Given the description of an element on the screen output the (x, y) to click on. 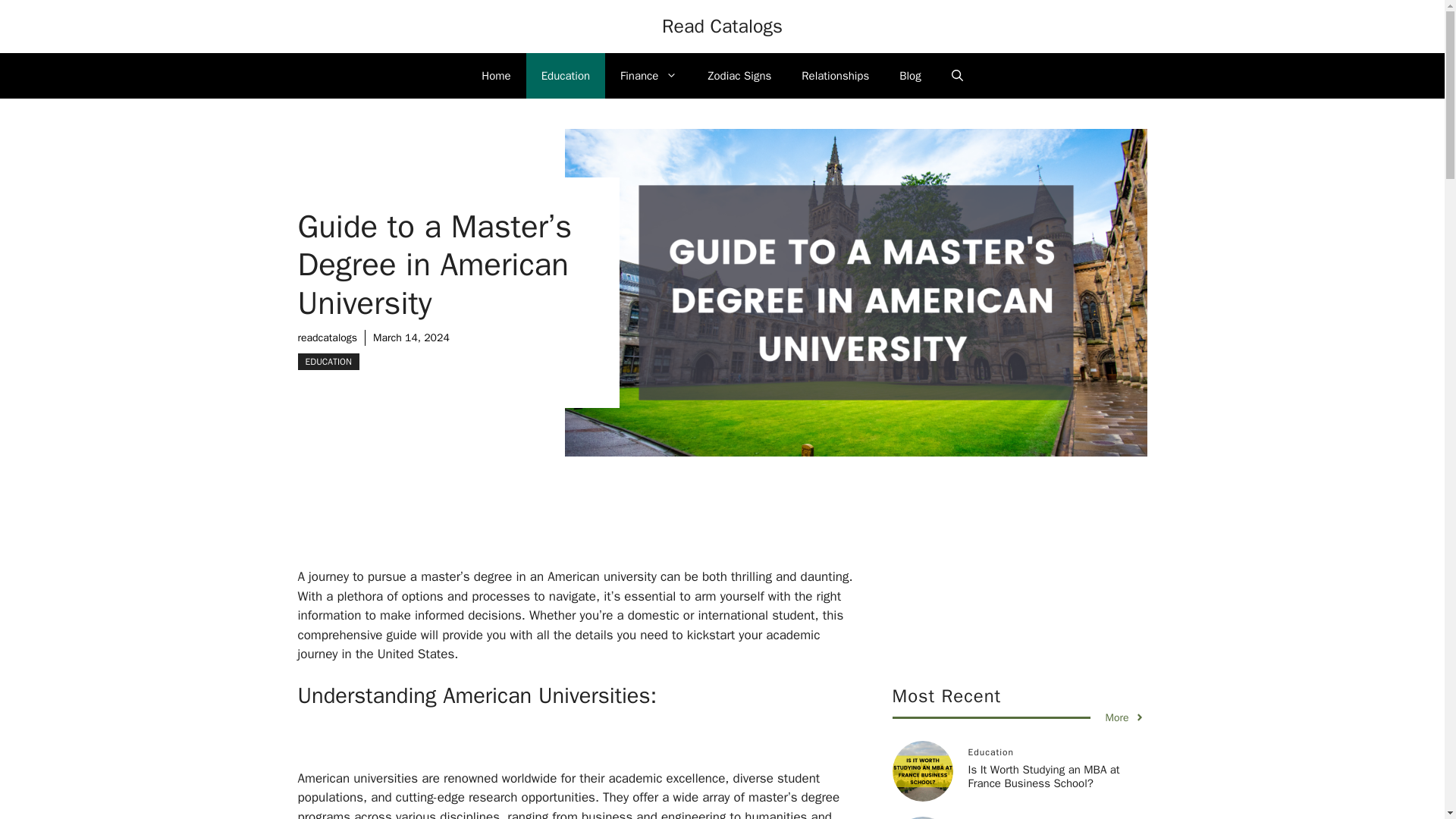
Education (565, 75)
More (1124, 717)
EDUCATION (327, 361)
Relationships (834, 75)
Finance (649, 75)
Read Catalogs (722, 25)
Home (495, 75)
Zodiac Signs (739, 75)
Blog (909, 75)
readcatalogs (326, 337)
Is It Worth Studying an MBA at France Business School? (1043, 776)
